Given the description of an element on the screen output the (x, y) to click on. 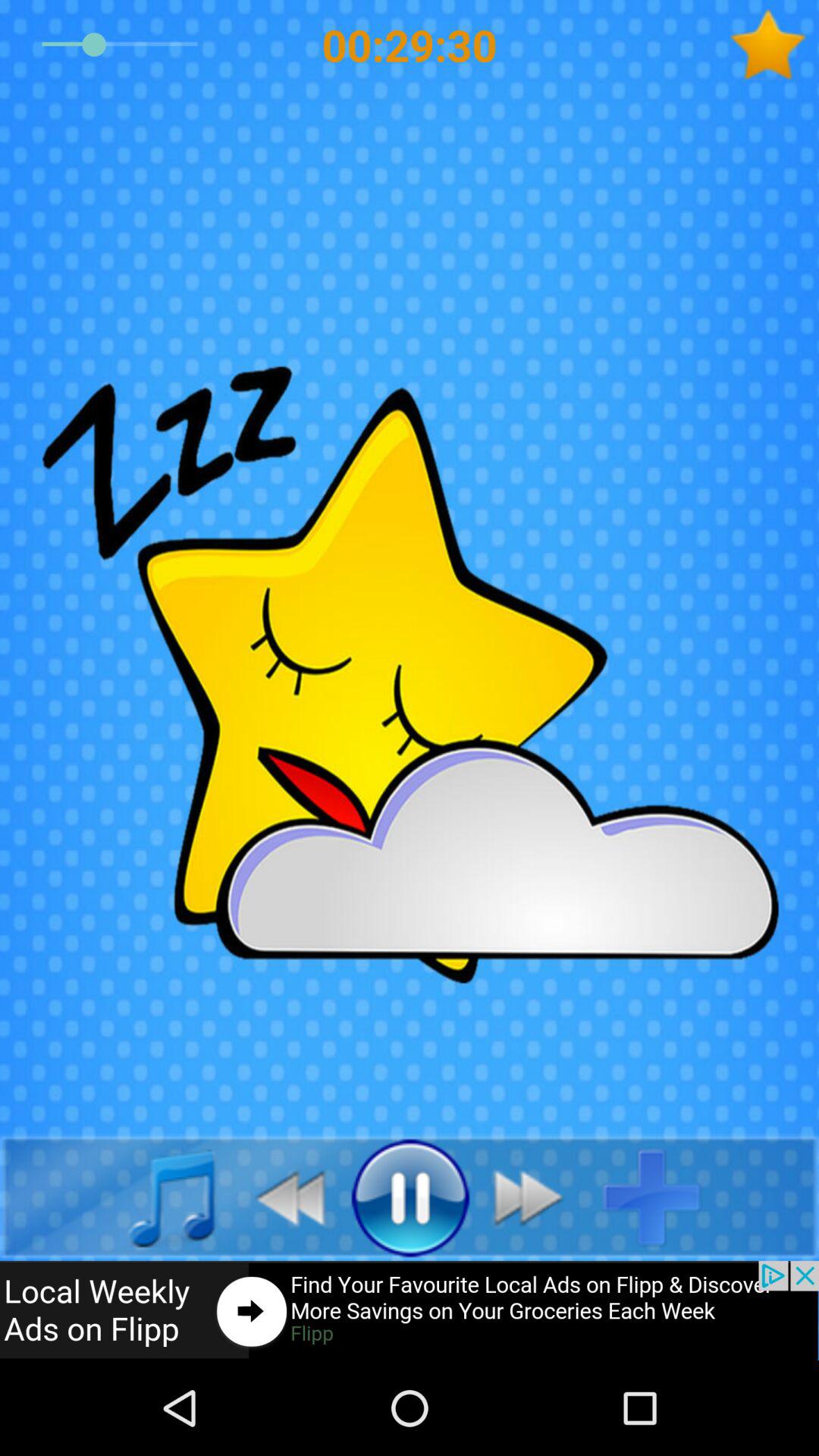
add page (664, 1196)
